Given the description of an element on the screen output the (x, y) to click on. 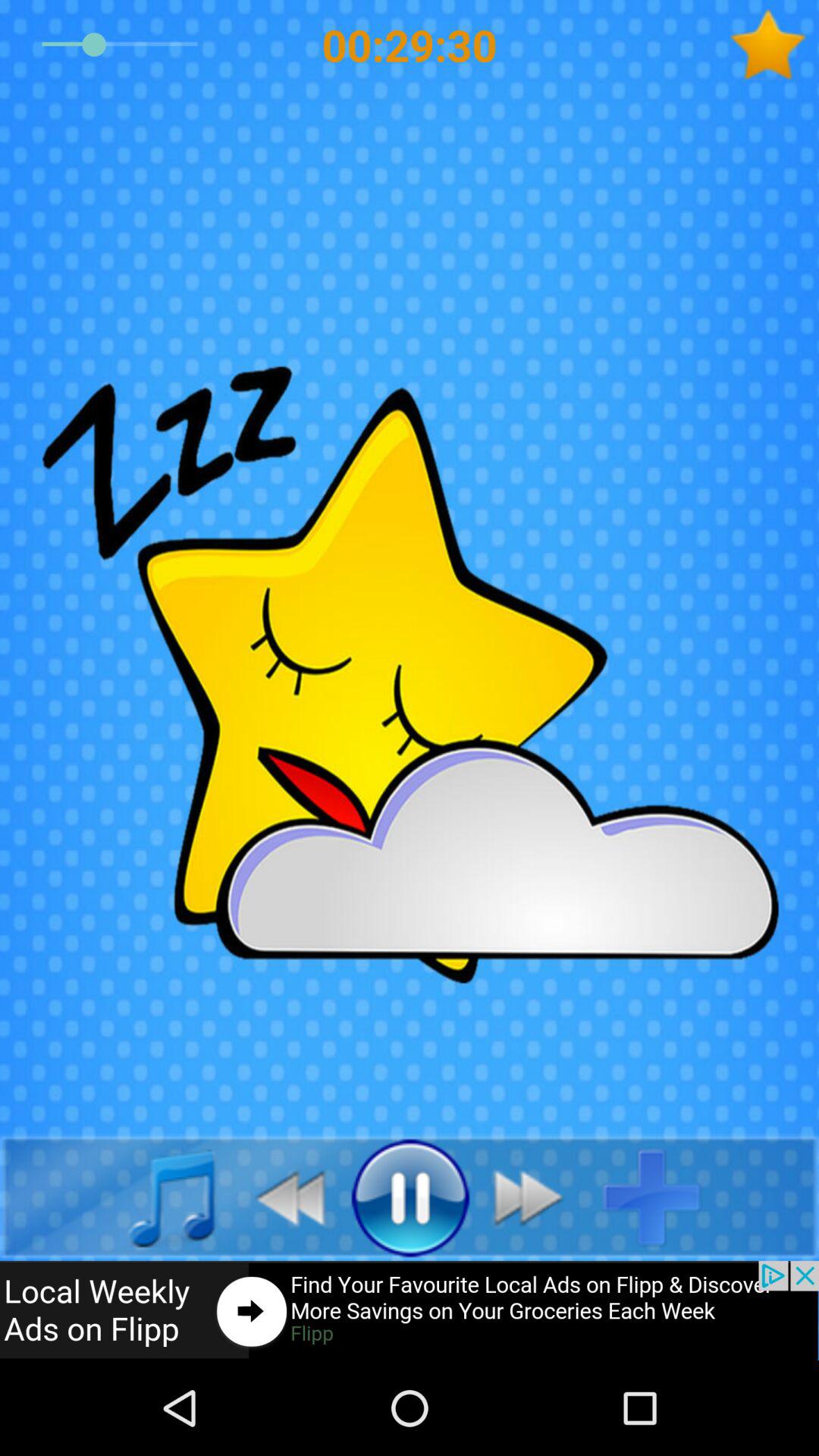
add page (664, 1196)
